Given the description of an element on the screen output the (x, y) to click on. 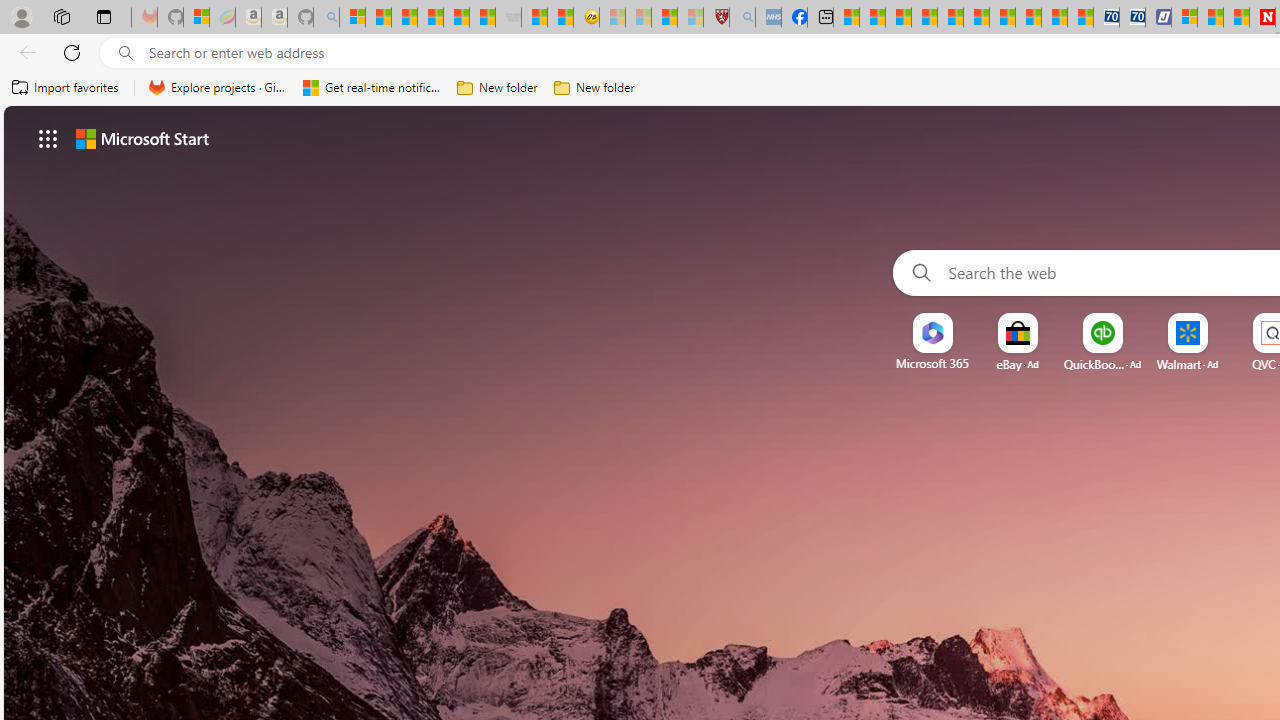
12 Popular Science Lies that Must be Corrected - Sleeping (690, 17)
The Weather Channel - MSN (404, 17)
Cheap Car Rentals - Save70.com (1106, 17)
Microsoft account | Privacy (1184, 17)
New Report Confirms 2023 Was Record Hot | Watch (456, 17)
